Given the description of an element on the screen output the (x, y) to click on. 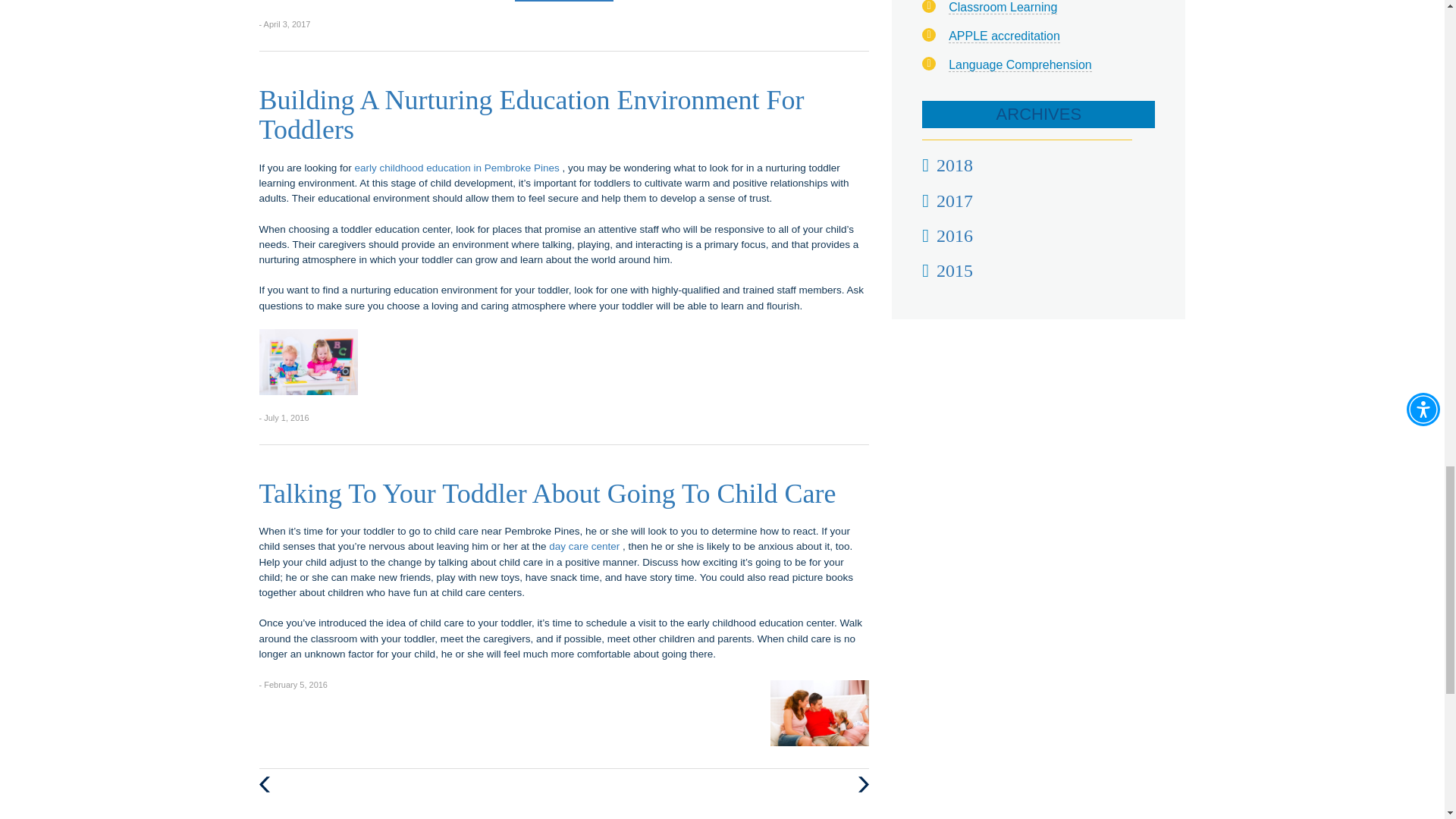
Building A Nurturing Education Environment For Toddlers (532, 115)
- July 1, 2016 (283, 417)
- April 3, 2017 (285, 23)
Building a Nurturing Education Environment for Toddlers (308, 361)
Walk around the classroom with your toddler (819, 713)
early childhood education in Pembroke Pines (458, 167)
day care center (585, 546)
Talking To Your Toddler About Going To Child Care (547, 493)
